Given the description of an element on the screen output the (x, y) to click on. 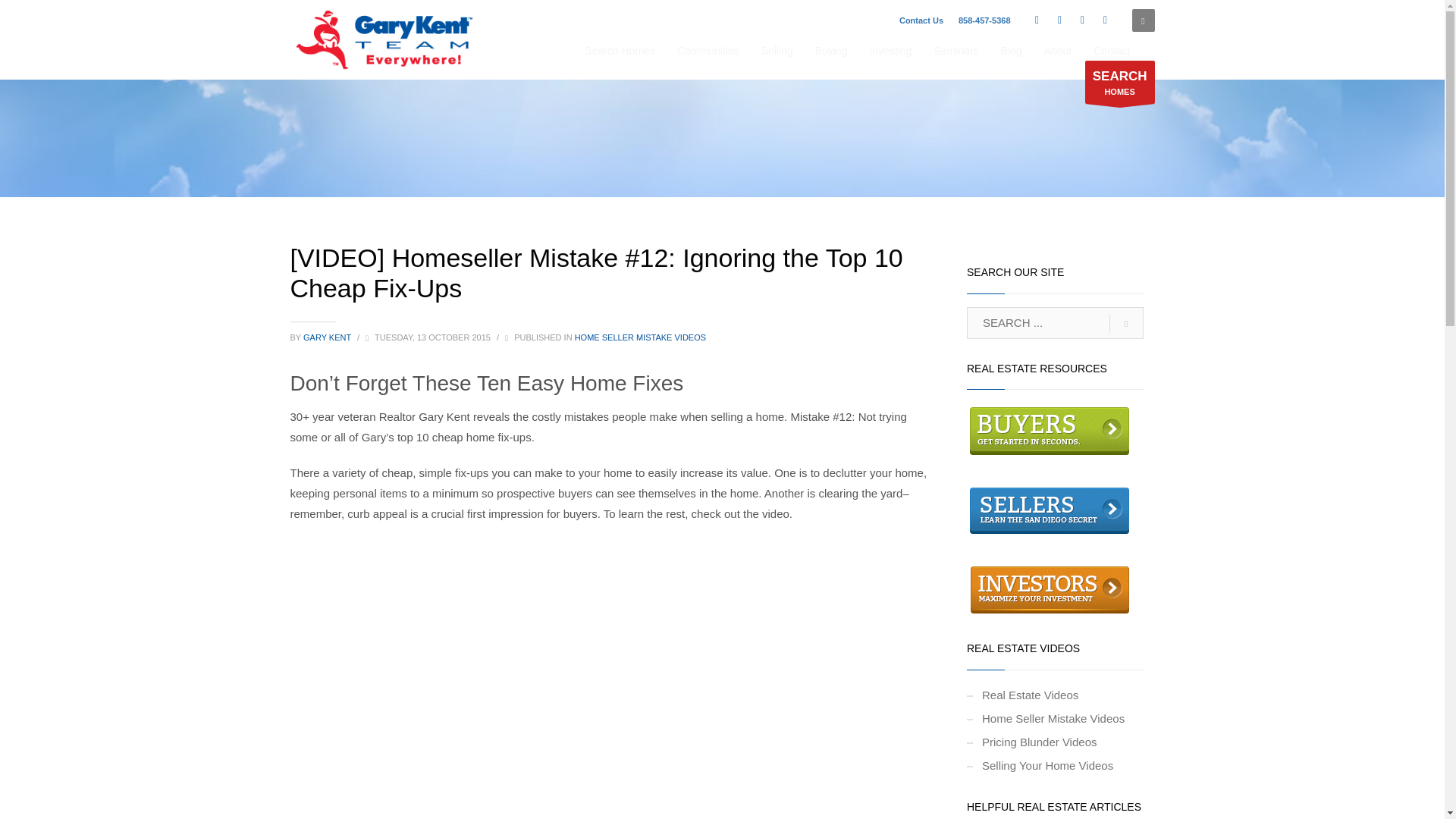
Real Estate Resources (1050, 430)
Communities (708, 50)
Pinterest (1105, 20)
LinkedIn (1082, 20)
Contact Us (921, 20)
Twitter (1059, 20)
Facebook (1037, 20)
Search San Diego Homes (1119, 82)
Seen Everywhere (385, 39)
858-457-5368 (984, 20)
